Given the description of an element on the screen output the (x, y) to click on. 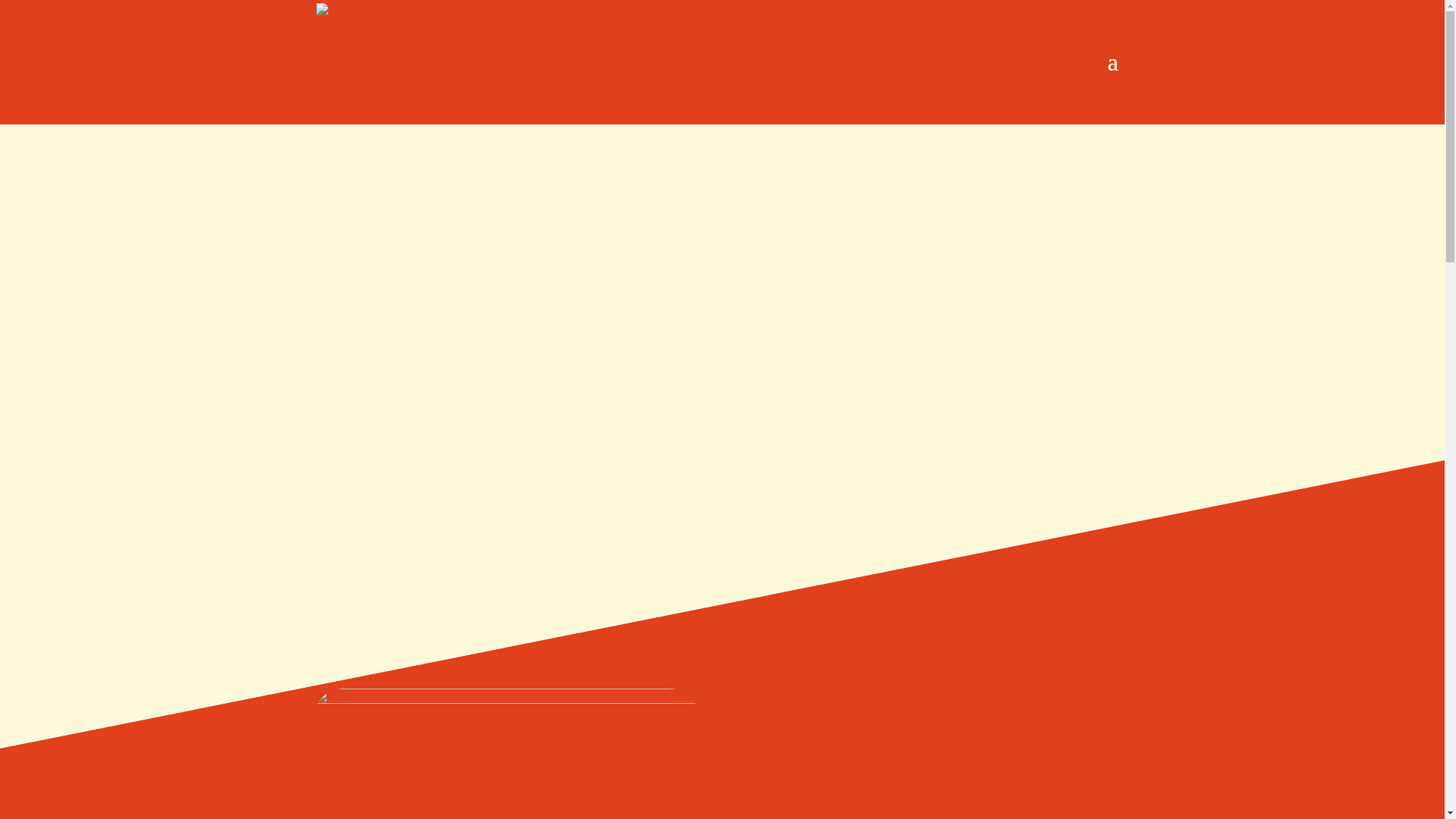
img_first_6sides Element type: hover (829, 308)
